Given the description of an element on the screen output the (x, y) to click on. 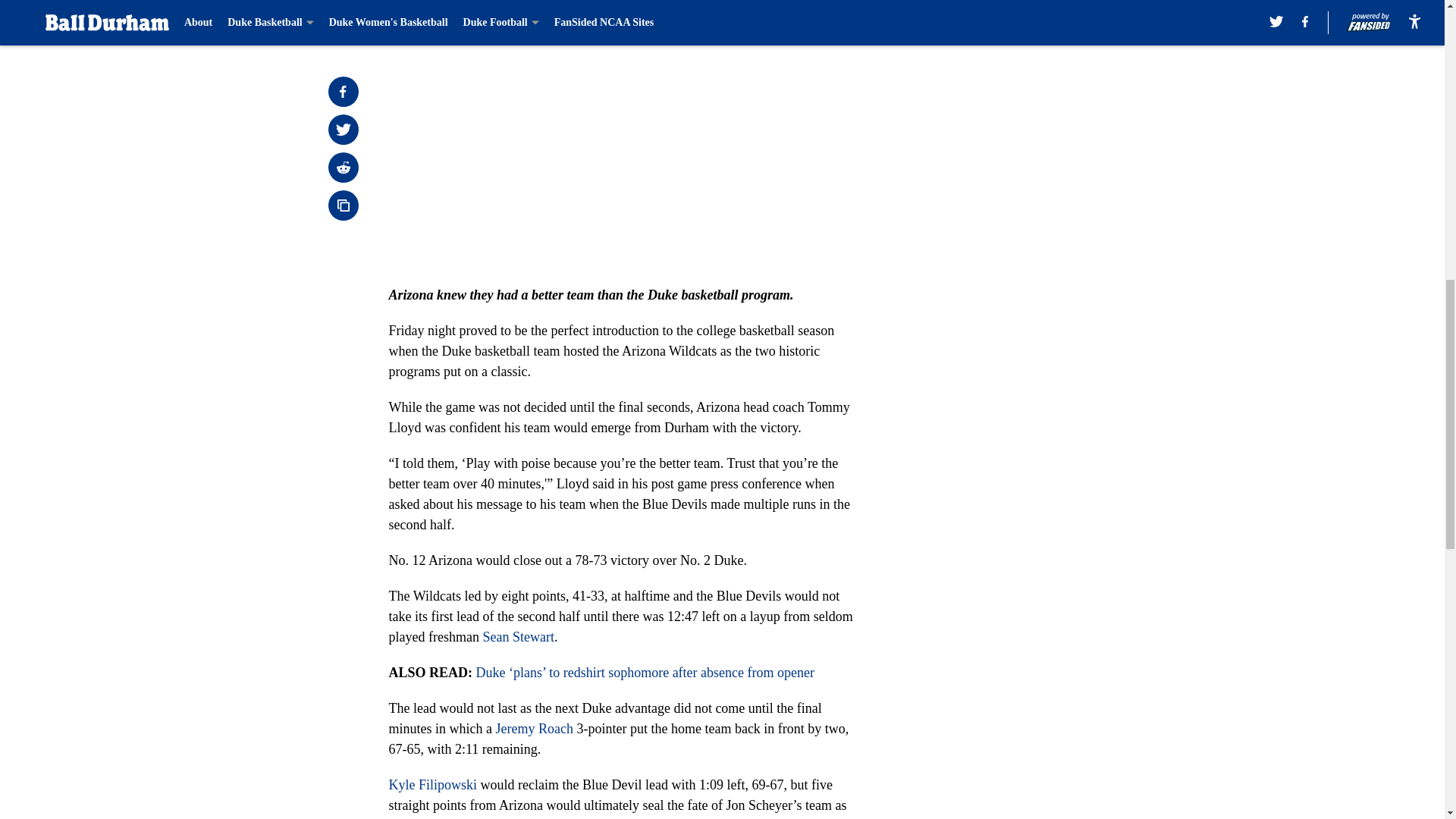
Kyle Filipowski (432, 784)
Sean Stewart (517, 636)
Jeremy Roach (533, 728)
